Given the description of an element on the screen output the (x, y) to click on. 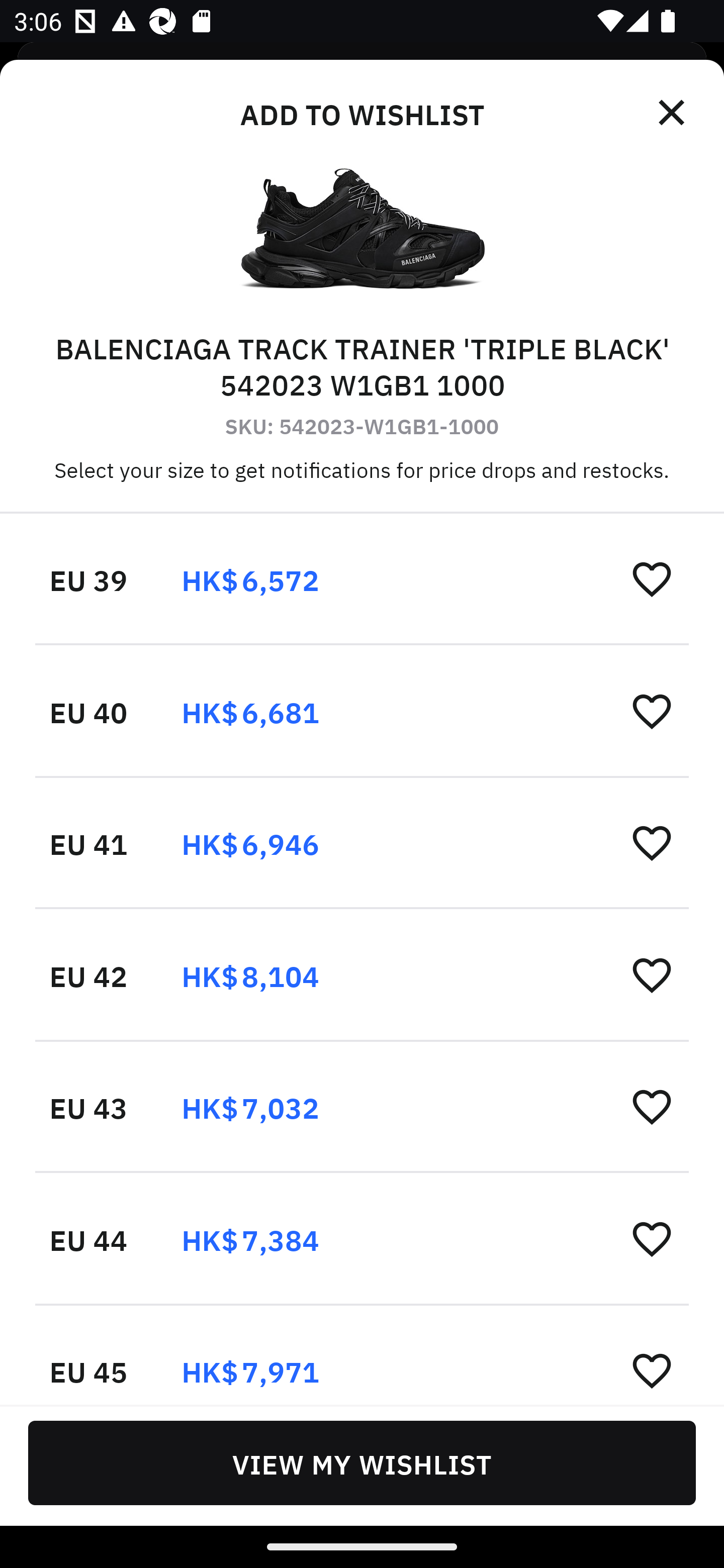
 (672, 112)
󰋕 (651, 578)
󰋕 (651, 710)
󰋕 (651, 842)
󰋕 (651, 974)
󰋕 (651, 1105)
󰋕 (651, 1237)
󰋕 (651, 1369)
VIEW MY WISHLIST (361, 1462)
